Given the description of an element on the screen output the (x, y) to click on. 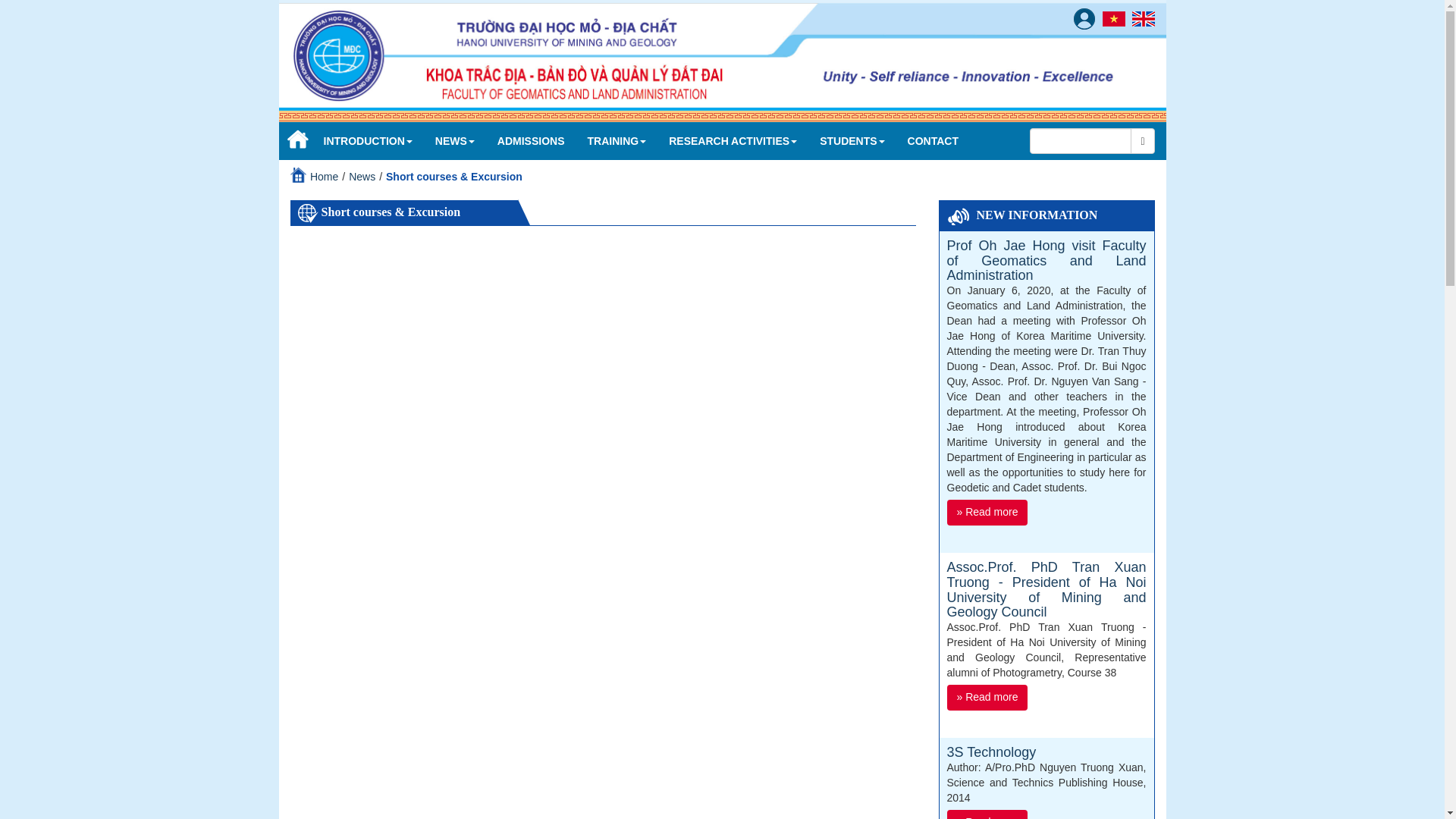
TRAINING (617, 140)
STUDENTS (851, 140)
ADMISSIONS (531, 140)
NEWS (454, 140)
introduction (368, 140)
Home (323, 176)
INTRODUCTION (368, 140)
RESEARCH ACTIVITIES (733, 140)
Home (296, 140)
CONTACT (932, 140)
